Given the description of an element on the screen output the (x, y) to click on. 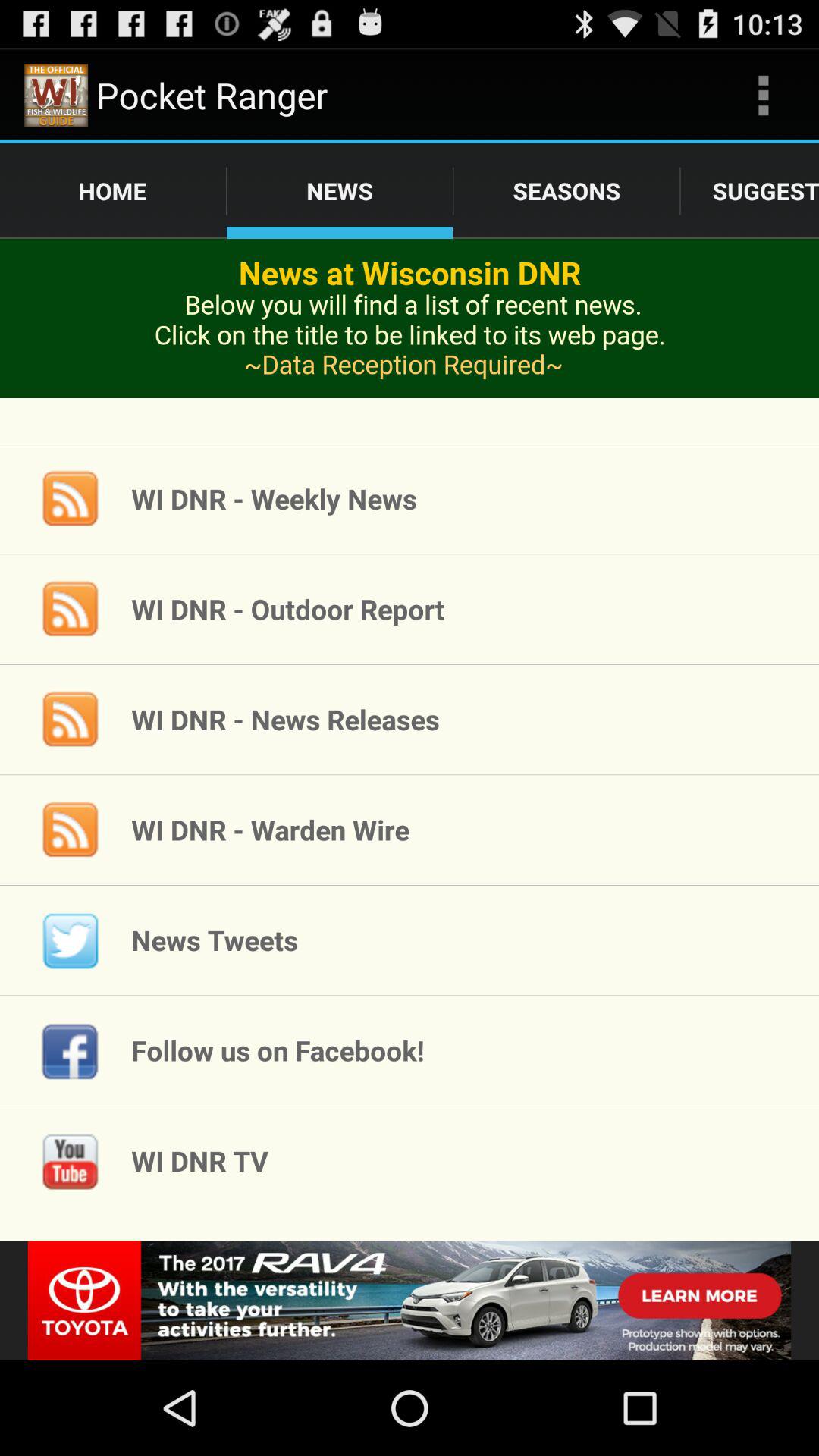
learn about this product (409, 340)
